Given the description of an element on the screen output the (x, y) to click on. 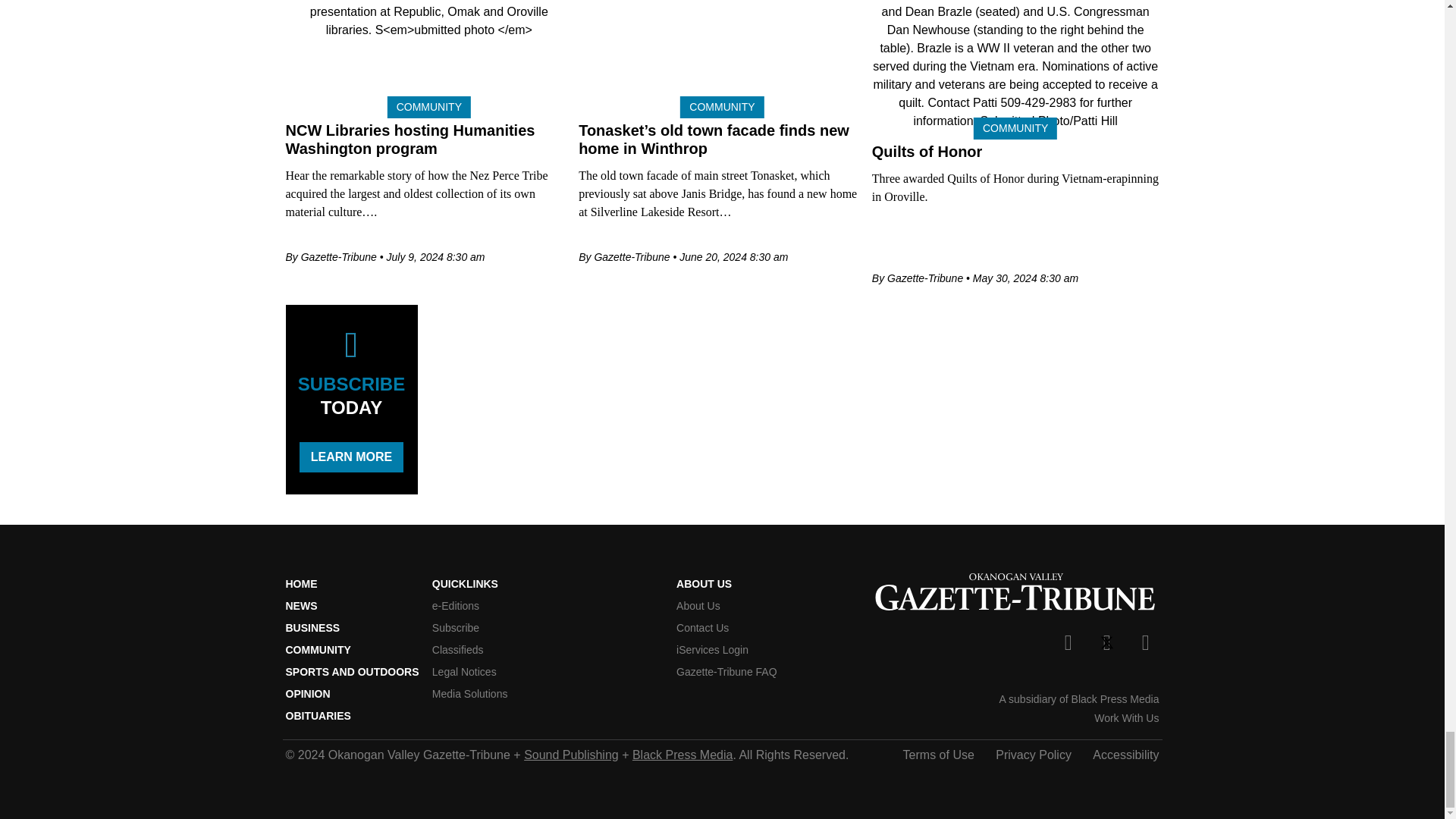
Gazette-Tribune (1015, 594)
